Given the description of an element on the screen output the (x, y) to click on. 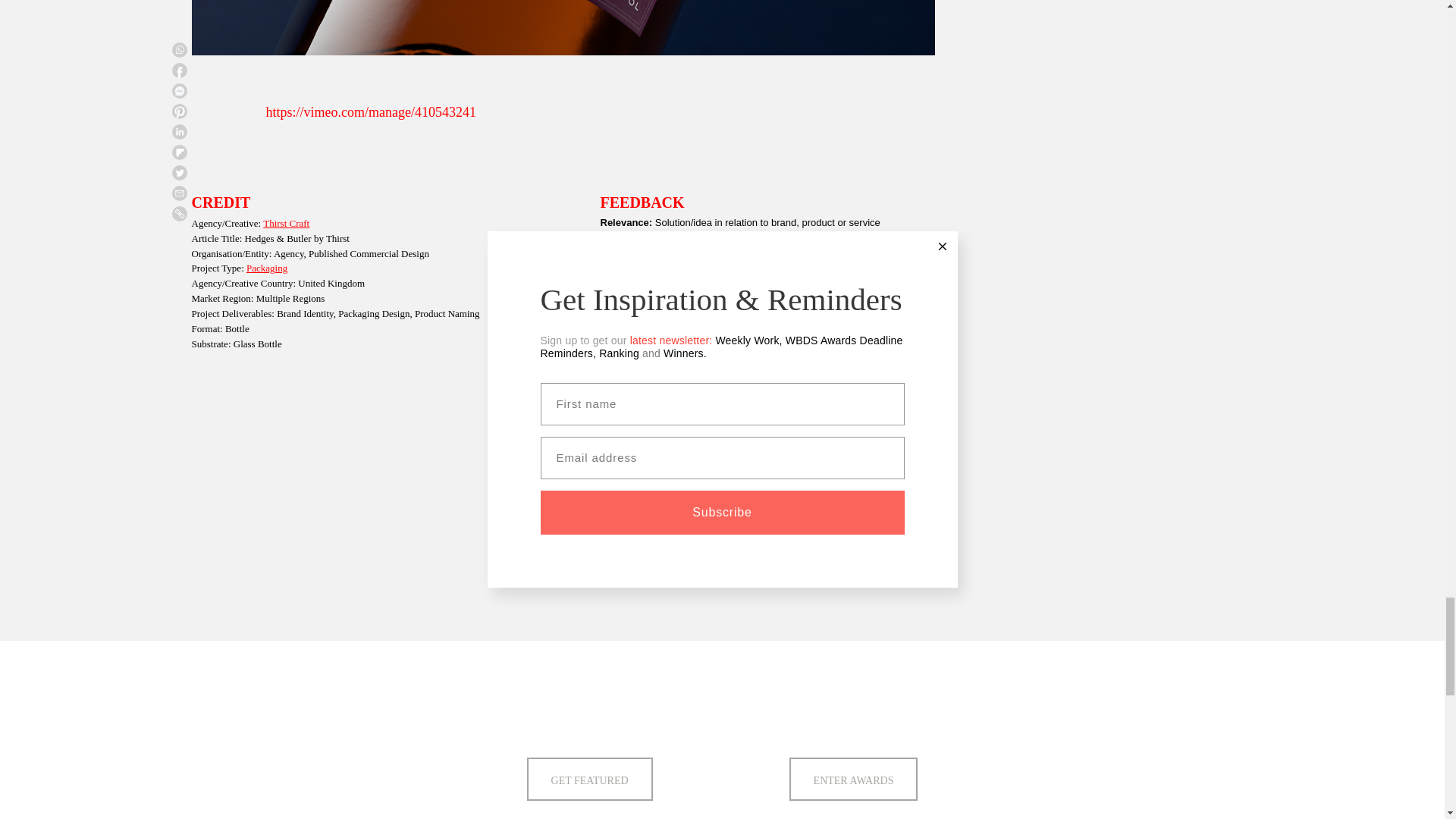
Packaging (266, 267)
Thirst Craft (285, 223)
